Given the description of an element on the screen output the (x, y) to click on. 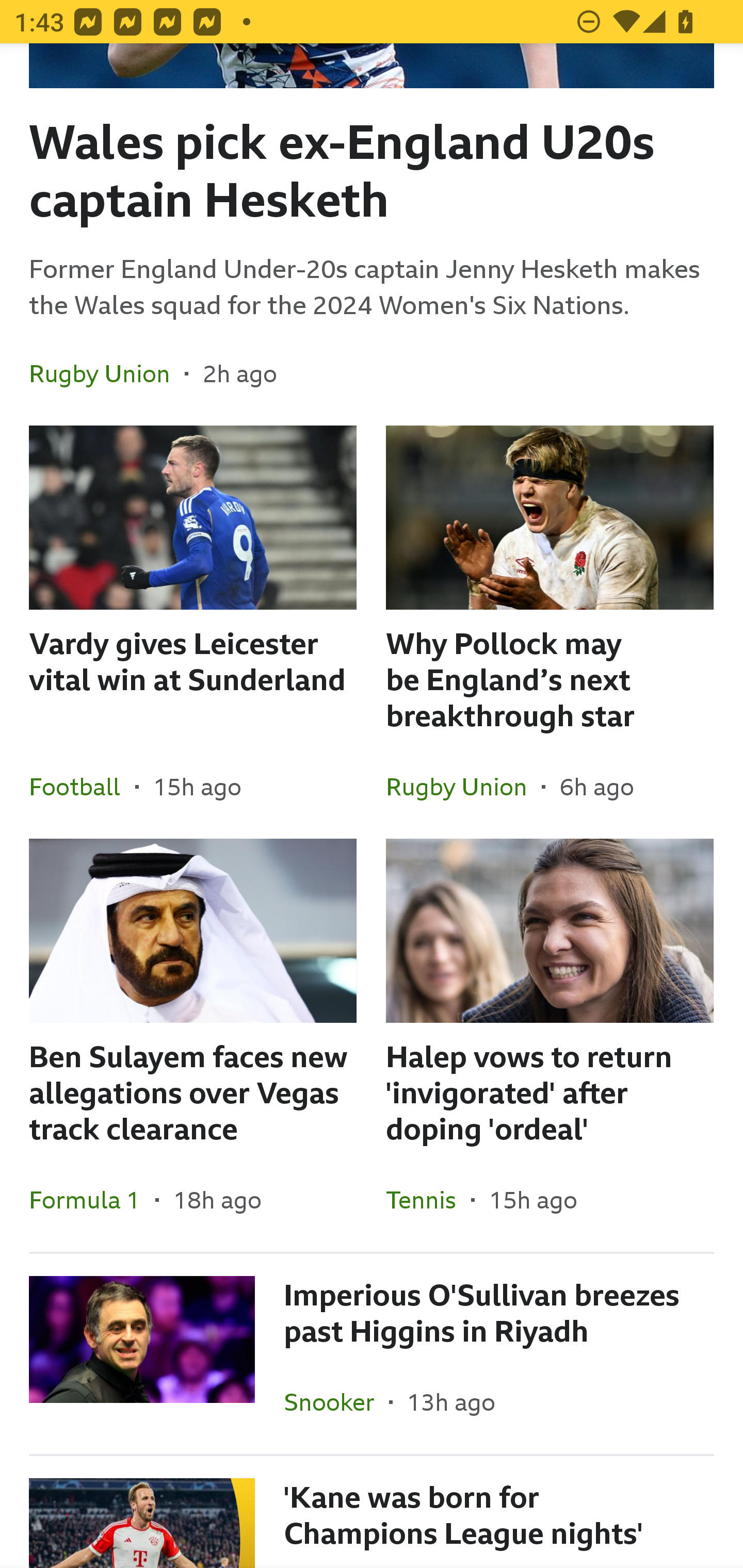
Rugby Union In the section Rugby Union (106, 372)
Football In the section Football (81, 785)
Rugby Union In the section Rugby Union (463, 785)
Formula 1 In the section Formula 1 (91, 1199)
Tennis In the section Tennis (428, 1199)
Snooker In the section Snooker (336, 1401)
